Given the description of an element on the screen output the (x, y) to click on. 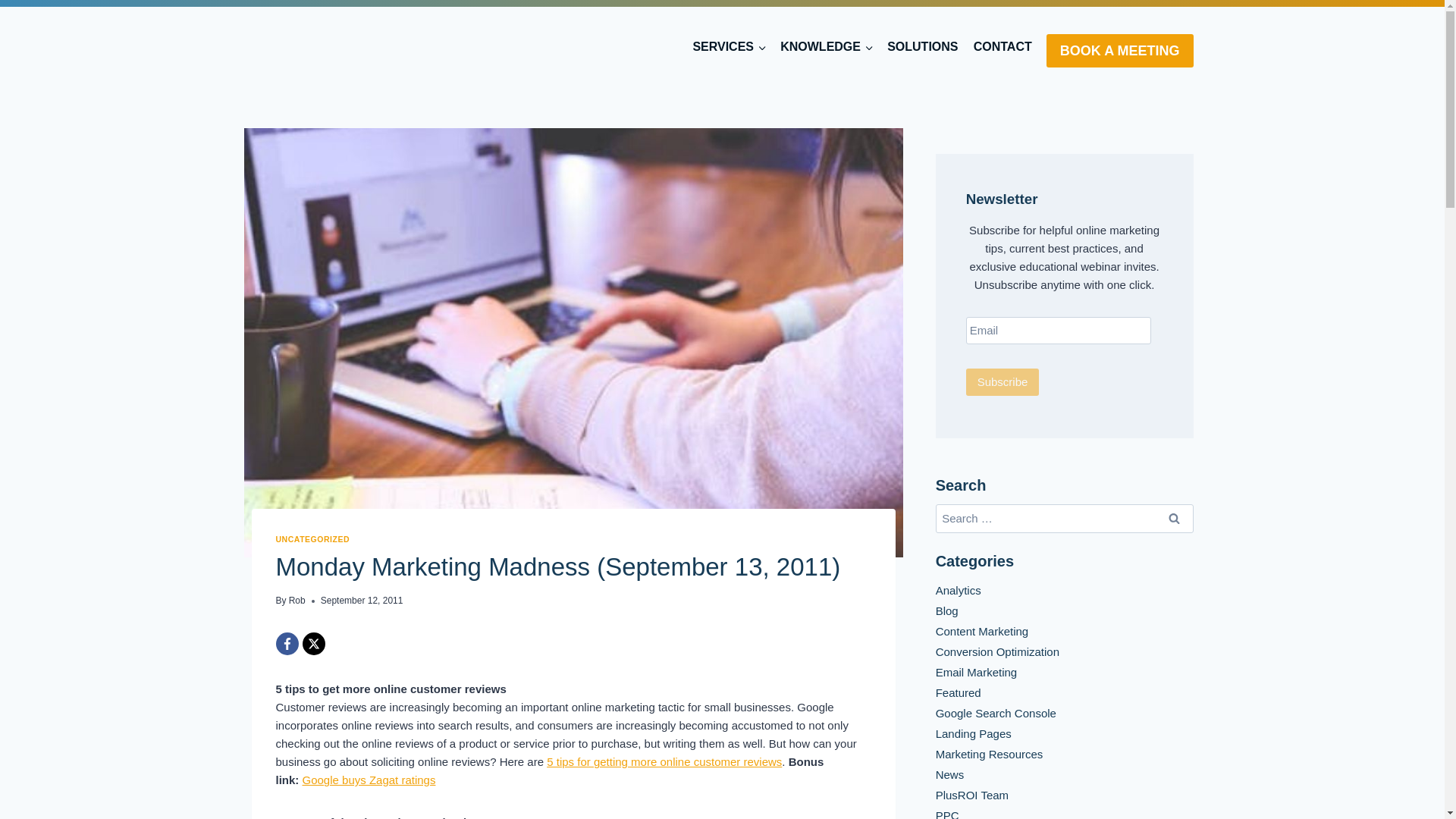
Rob (296, 600)
KNOWLEDGE (826, 47)
BOOK A MEETING (1119, 50)
Search (1174, 518)
SOLUTIONS (923, 47)
Subscribe (1002, 381)
CONTACT (1002, 47)
Google buys Zagat ratings (368, 779)
Search (1174, 518)
5 tips for getting more online customer reviews (664, 761)
